Given the description of an element on the screen output the (x, y) to click on. 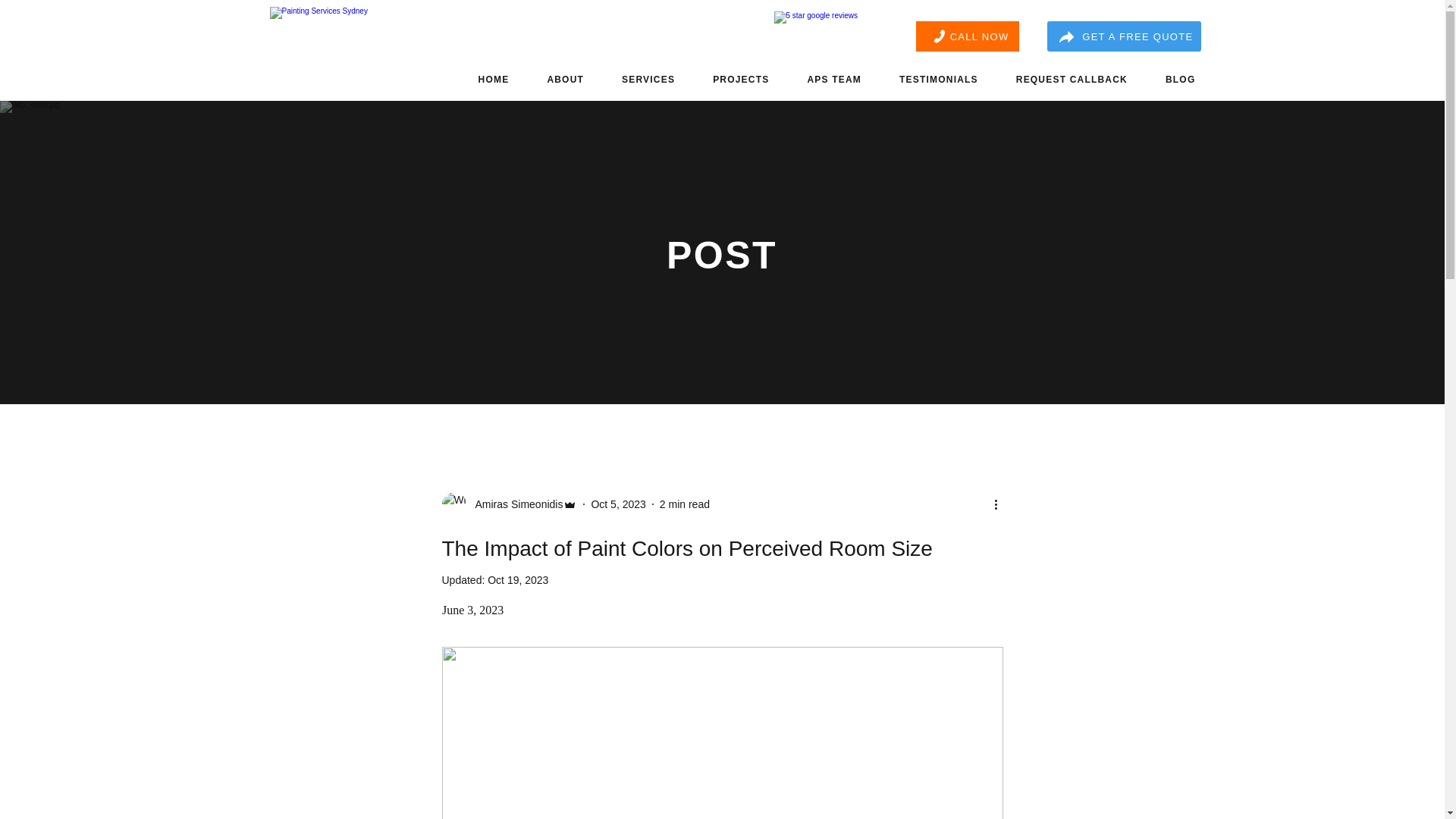
APS TEAM (833, 78)
Oct 5, 2023 (618, 503)
ABOUT (564, 78)
SERVICES (648, 78)
GET A FREE QUOTE (1122, 36)
2 min read (684, 503)
Oct 19, 2023 (517, 580)
CALL NOW (967, 36)
Amiras Simeonidis (508, 504)
HOME (494, 78)
BLOG (1180, 78)
TESTIMONIALS (938, 78)
PROJECTS (740, 78)
REQUEST CALLBACK (1072, 78)
